Given the description of an element on the screen output the (x, y) to click on. 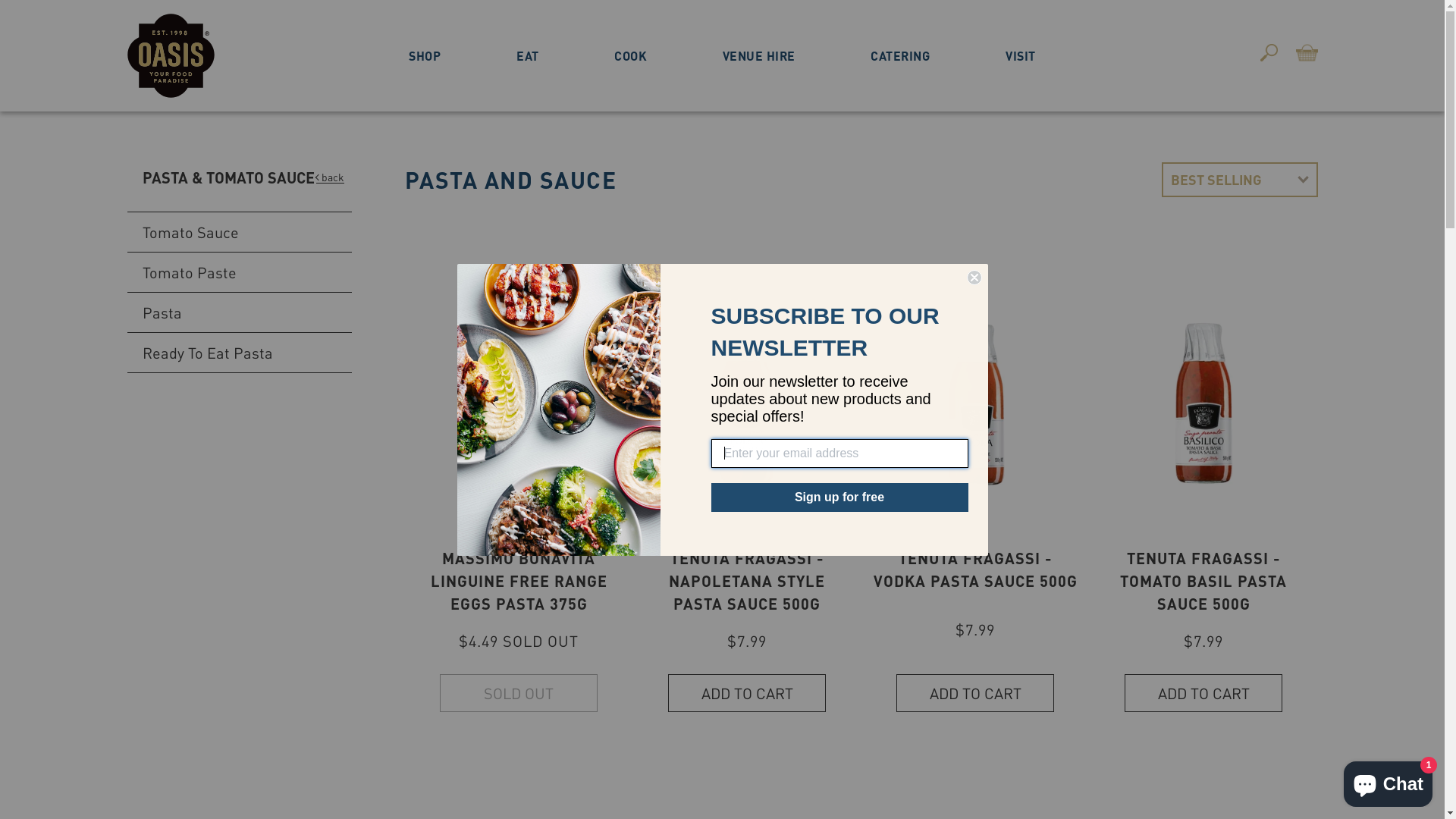
Shopify online store chat Element type: hover (1388, 780)
ADD TO CART Element type: text (1203, 693)
TENUTA FRAGASSI - NAPOLETANA STYLE PASTA SAUCE 500G Element type: text (746, 580)
VENUE HIRE Element type: text (758, 55)
back Element type: text (329, 176)
EAT Element type: text (527, 55)
VISIT Element type: text (1020, 55)
Sign up for free Element type: text (839, 496)
SOLD OUT Element type: text (518, 693)
Tomato Sauce Element type: text (239, 232)
Tomato Paste Element type: text (239, 272)
Ready To Eat Pasta Element type: text (239, 352)
ADD TO CART Element type: text (746, 693)
COOK Element type: text (630, 55)
ADD TO CART Element type: text (975, 693)
Pasta Element type: text (239, 312)
Submit Element type: text (20, 7)
CATERING Element type: text (899, 55)
TENUTA FRAGASSI - TOMATO BASIL PASTA SAUCE 500G Element type: text (1203, 580)
TENUTA FRAGASSI - VODKA PASTA SAUCE 500G Element type: text (975, 569)
Close dialog 1 Element type: text (973, 277)
MASSIMO BONAVITA LINGUINE FREE RANGE EGGS PASTA 375G Element type: text (518, 580)
SHOP Element type: text (424, 55)
